Given the description of an element on the screen output the (x, y) to click on. 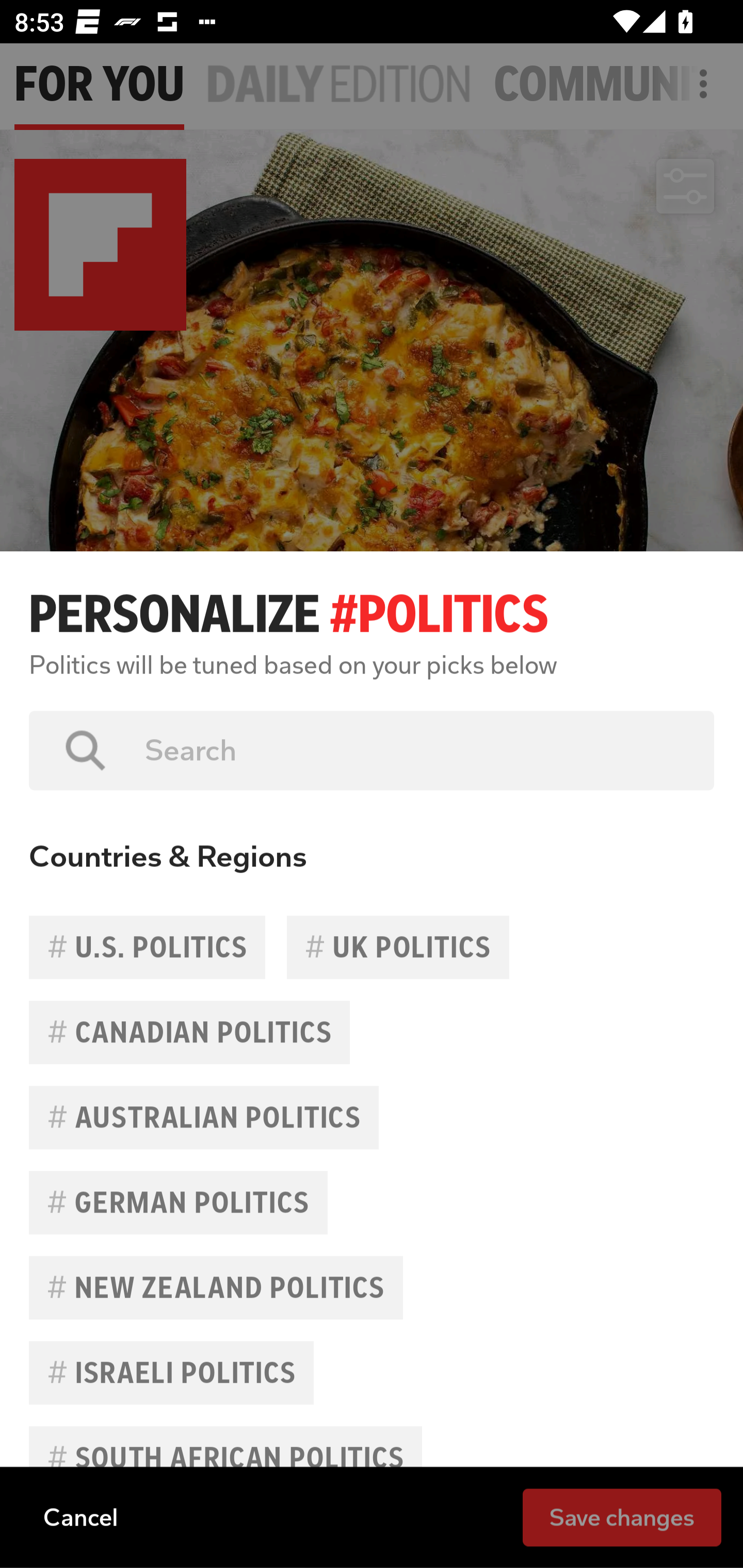
Search (414, 750)
# U.S. POLITICS (146, 946)
# UK POLITICS (397, 946)
# CANADIAN POLITICS (188, 1032)
# AUSTRALIAN POLITICS (203, 1117)
# GERMAN POLITICS (177, 1202)
# NEW ZEALAND POLITICS (215, 1286)
# ISRAELI POLITICS (170, 1372)
# SOUTH AFRICAN POLITICS (225, 1457)
Cancel (80, 1516)
Save changes (621, 1517)
